Given the description of an element on the screen output the (x, y) to click on. 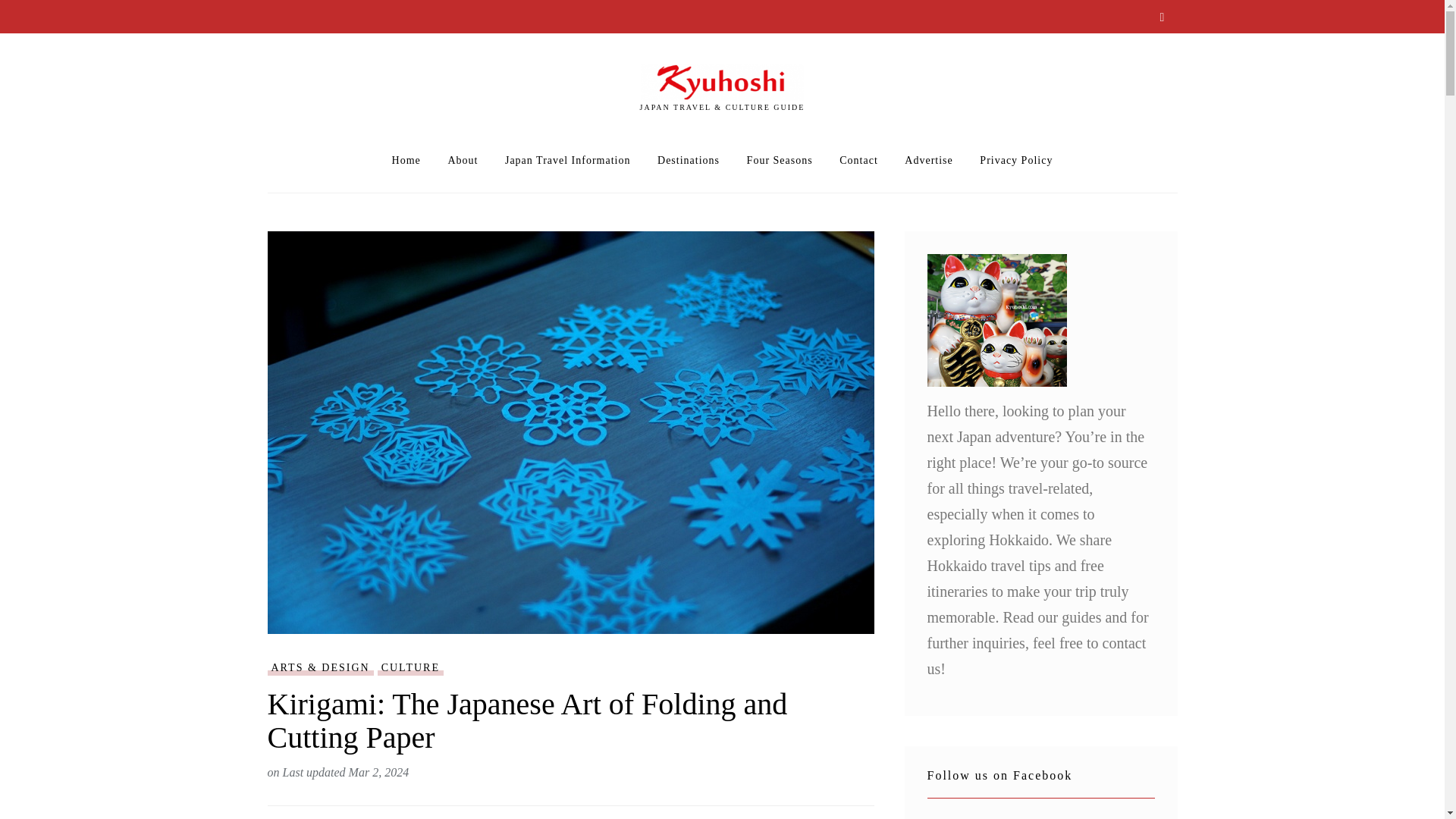
Search (1161, 18)
Japan Travel Information (567, 160)
About (461, 160)
